Given the description of an element on the screen output the (x, y) to click on. 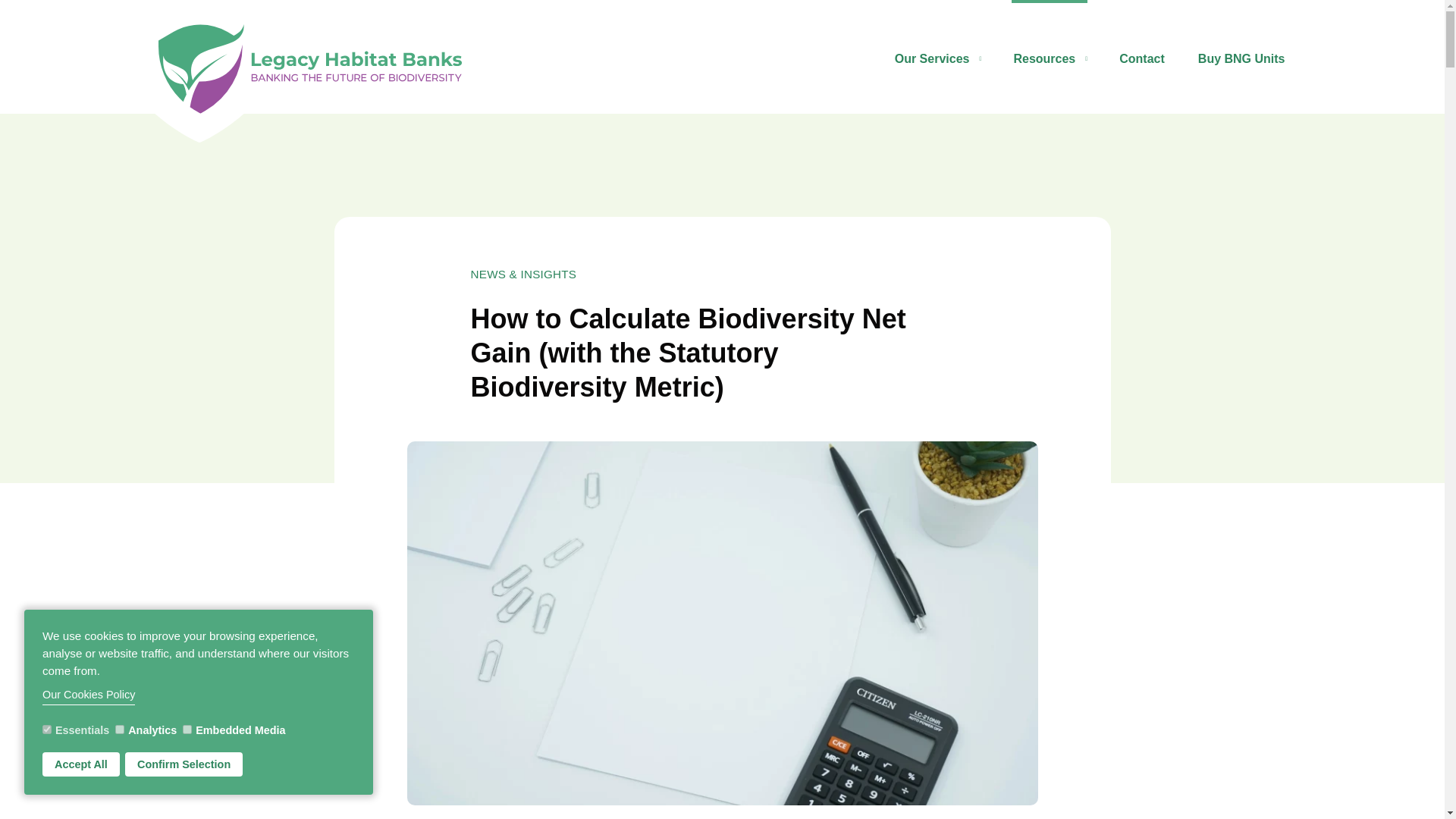
Resources (1049, 58)
on (187, 728)
Buy BNG Units (1241, 58)
Contact (1142, 58)
on (46, 728)
on (119, 728)
Our Services (937, 58)
